Given the description of an element on the screen output the (x, y) to click on. 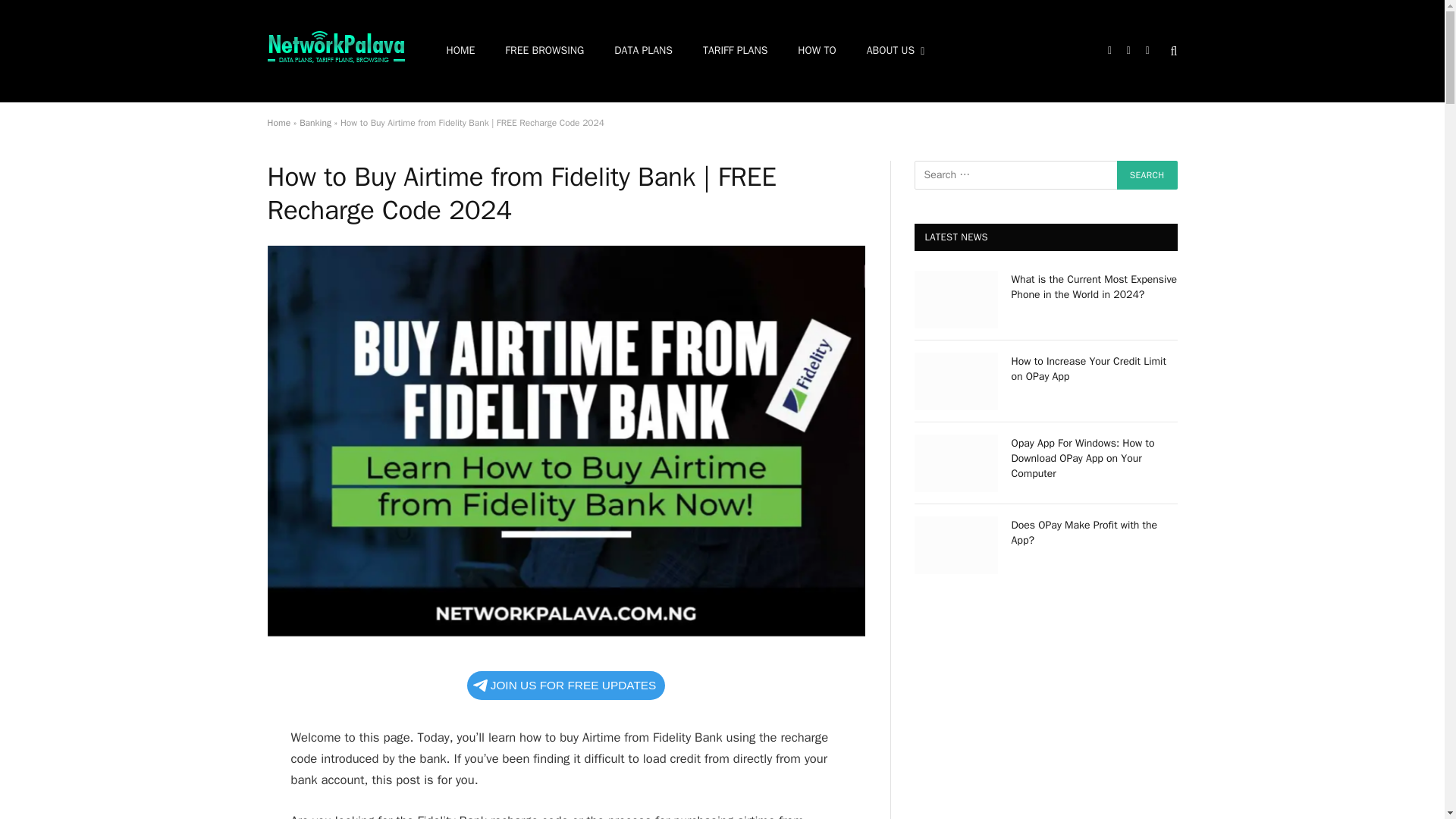
Banking (315, 122)
Facebook (1109, 50)
FREE BROWSING (543, 51)
Search (1146, 174)
HOW TO (816, 51)
JOIN US FOR FREE UPDATES (566, 685)
ABOUT US (895, 51)
Home (277, 122)
Search (1146, 174)
Search (1172, 50)
DATA PLANS (642, 51)
TARIFF PLANS (735, 51)
Instagram (1147, 50)
Network Palava (335, 51)
HOME (459, 51)
